Given the description of an element on the screen output the (x, y) to click on. 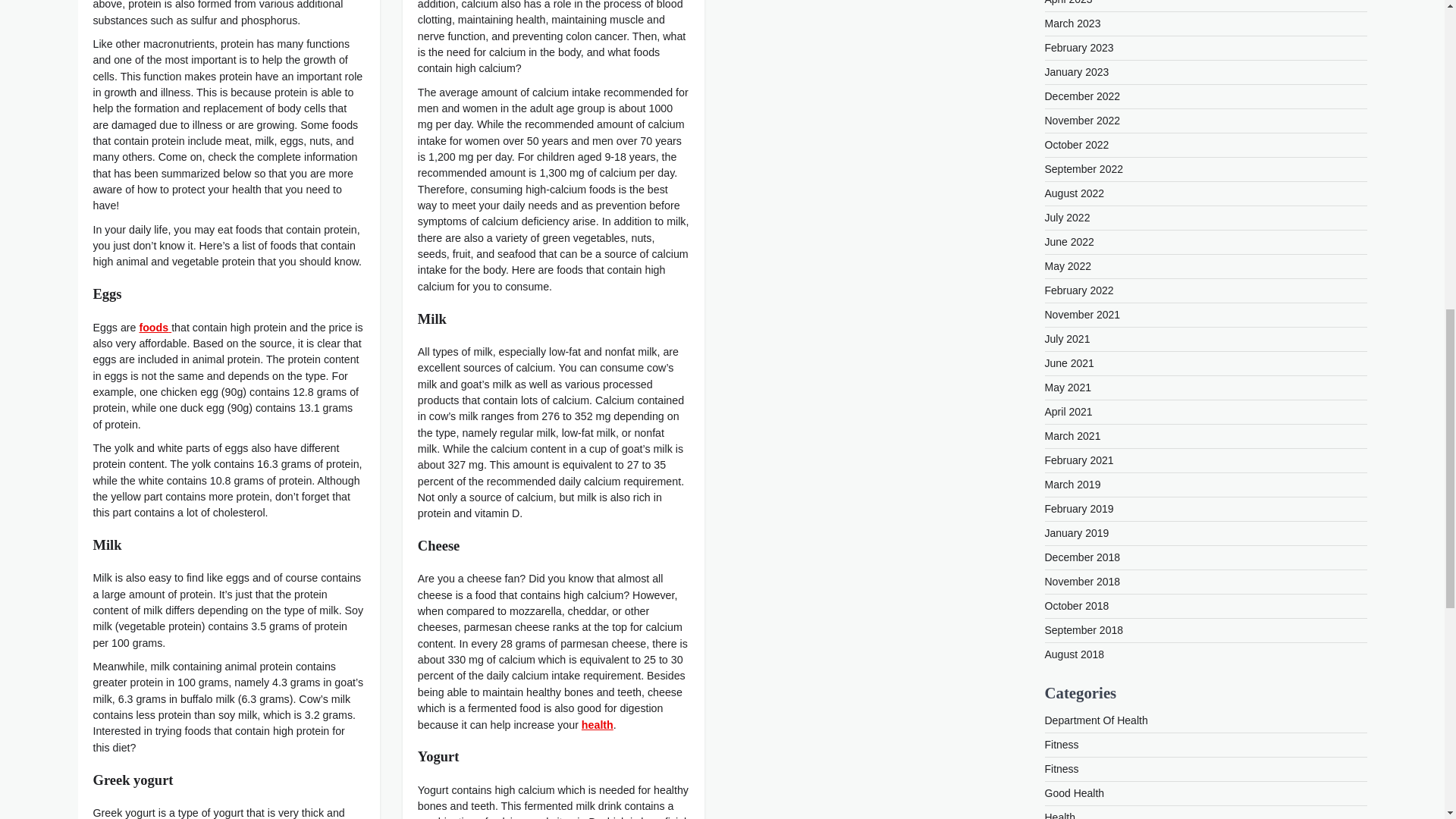
foods (154, 327)
health (596, 725)
